Given the description of an element on the screen output the (x, y) to click on. 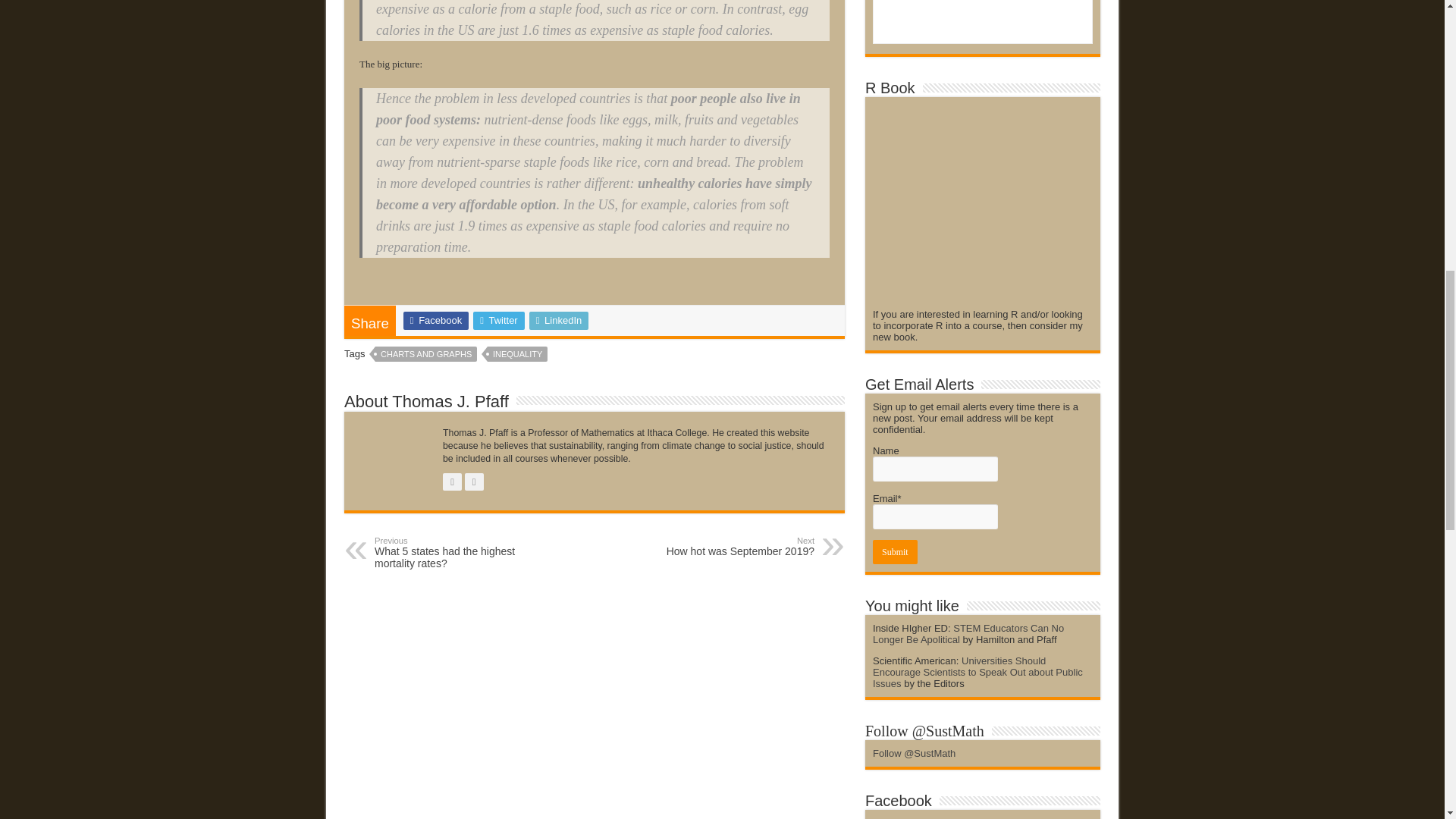
Facebook (435, 321)
Submit (894, 551)
Twitter (498, 321)
Scroll To Top (1421, 60)
